Given the description of an element on the screen output the (x, y) to click on. 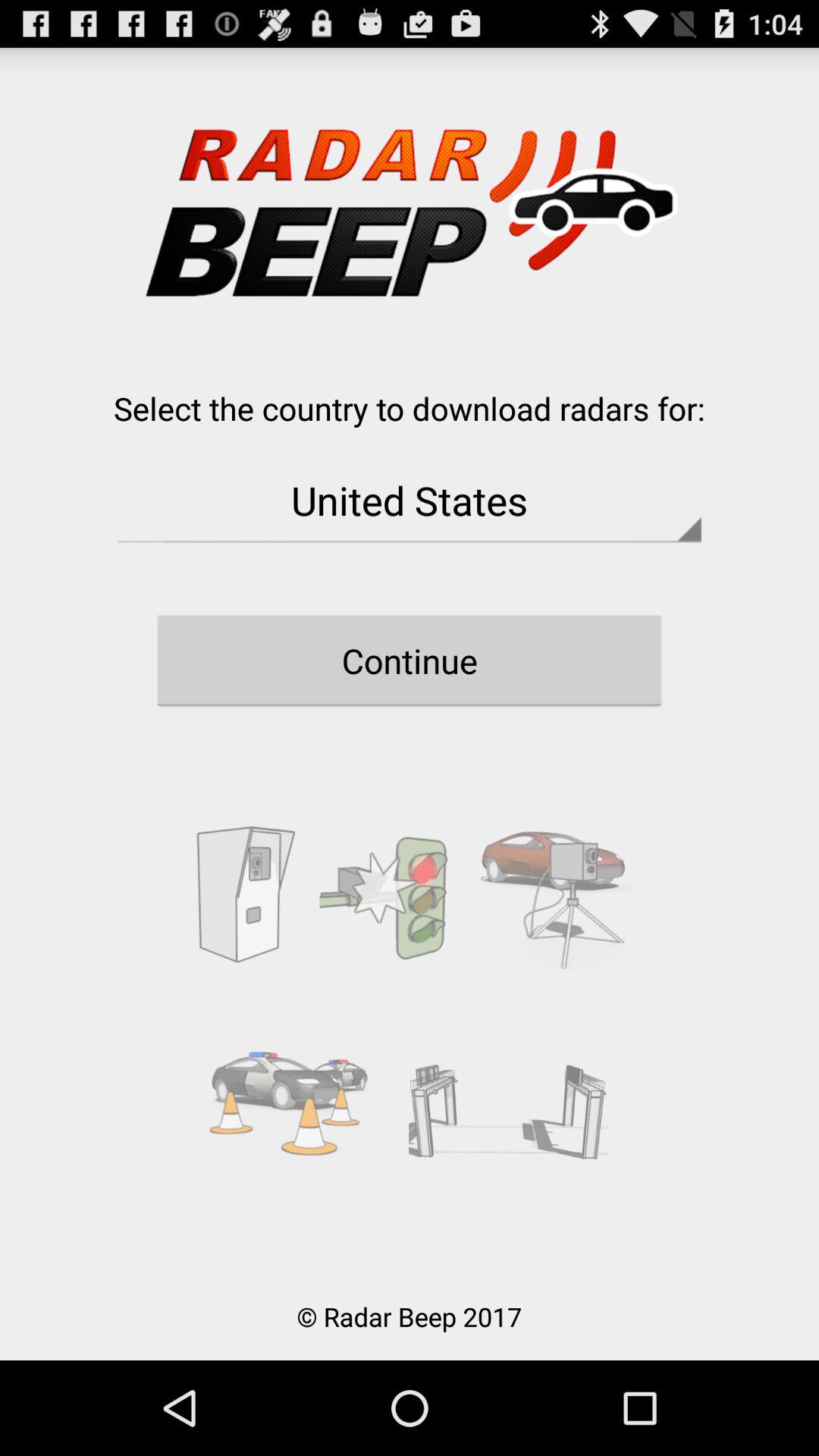
scroll until continue button (409, 660)
